Given the description of an element on the screen output the (x, y) to click on. 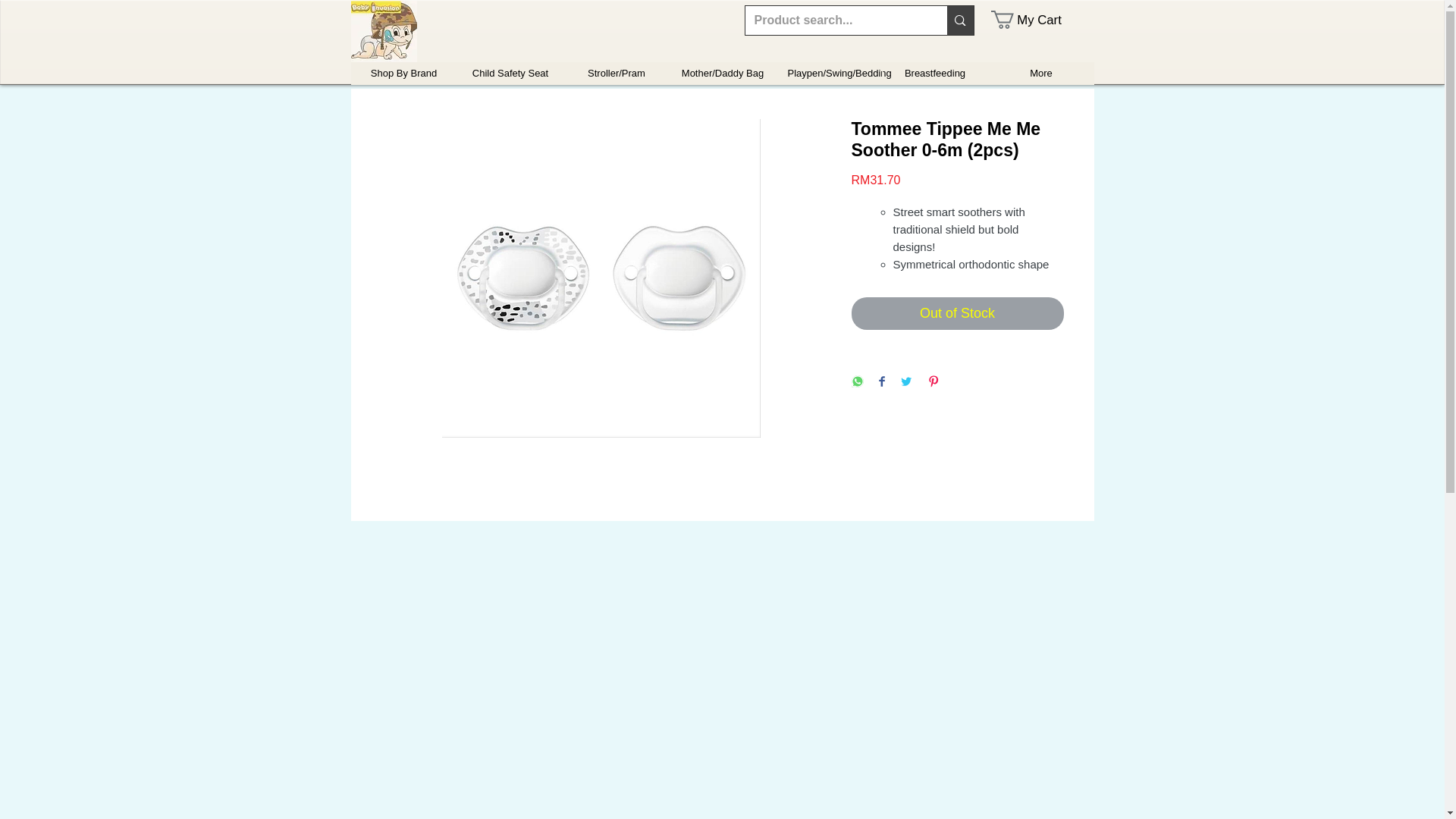
Child Safety Seat (509, 73)
Shop By Brand (403, 73)
Out of Stock (956, 313)
My Cart (1036, 19)
Breastfeeding (933, 73)
My Cart (1036, 19)
